Given the description of an element on the screen output the (x, y) to click on. 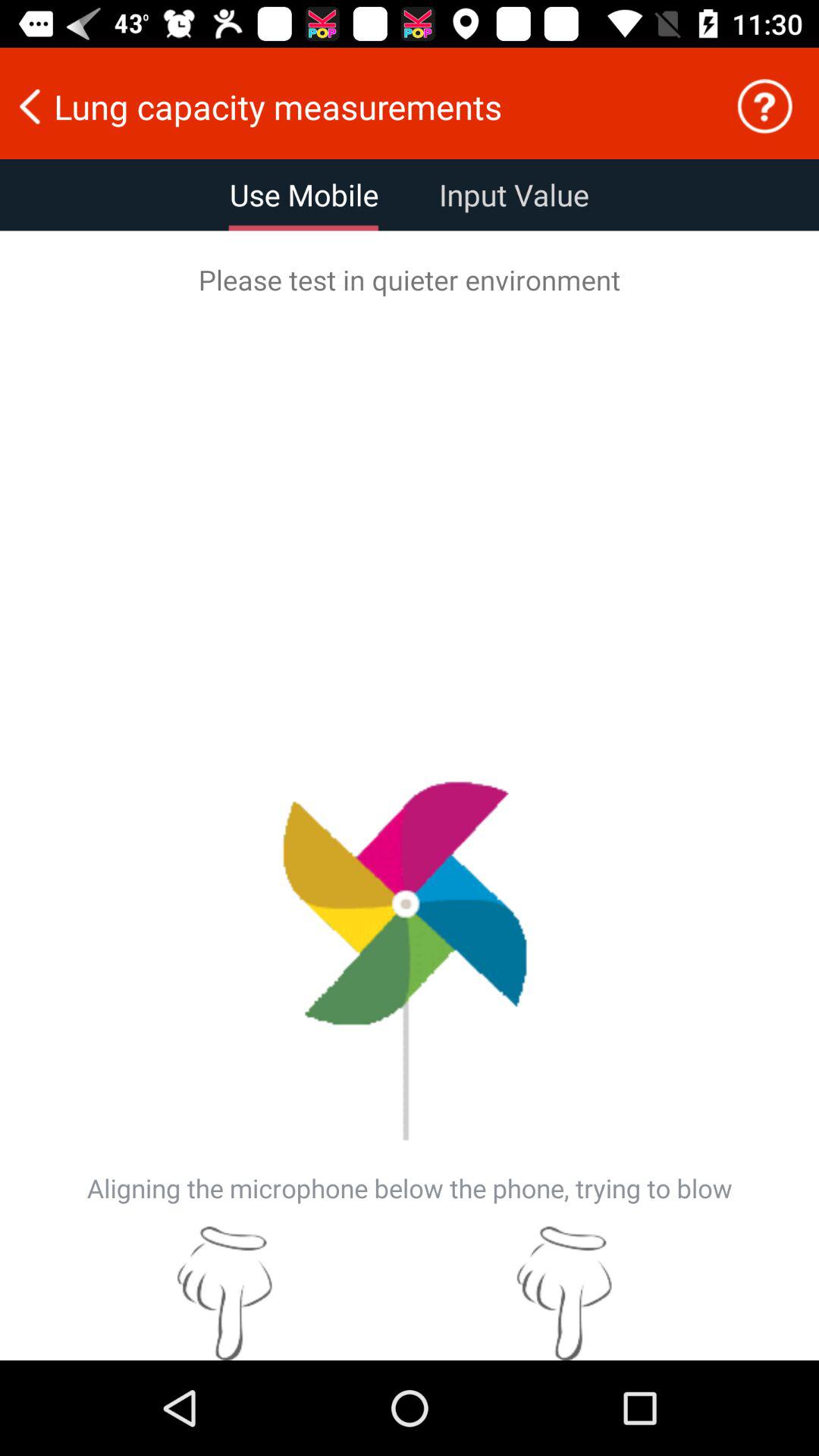
press the item to the right of use mobile icon (513, 194)
